Given the description of an element on the screen output the (x, y) to click on. 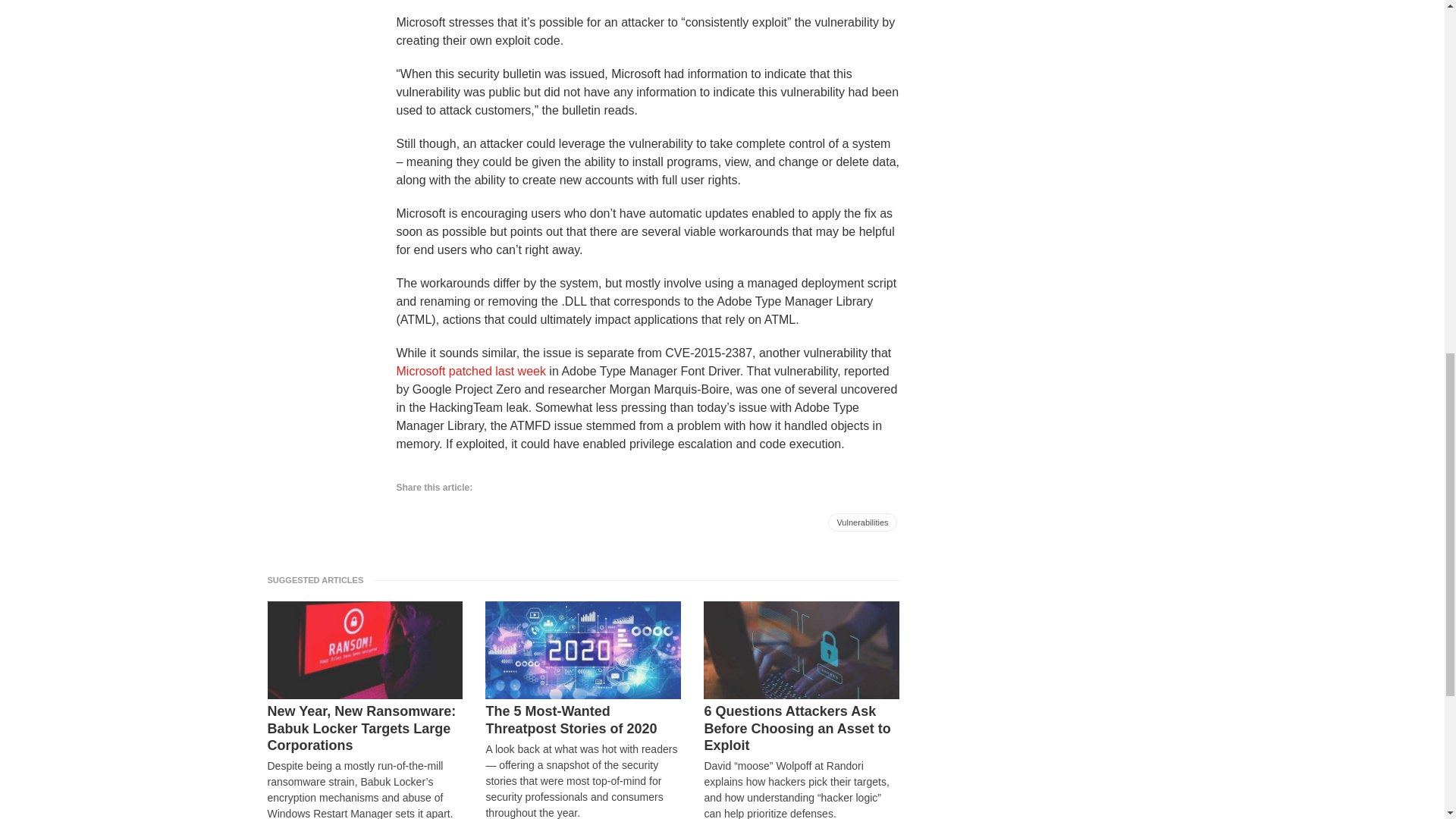
SUGGESTED ARTICLES (319, 579)
Vulnerabilities (862, 522)
Microsoft patched last week (470, 370)
The 5 Most-Wanted Threatpost Stories of 2020 (582, 719)
